Given the description of an element on the screen output the (x, y) to click on. 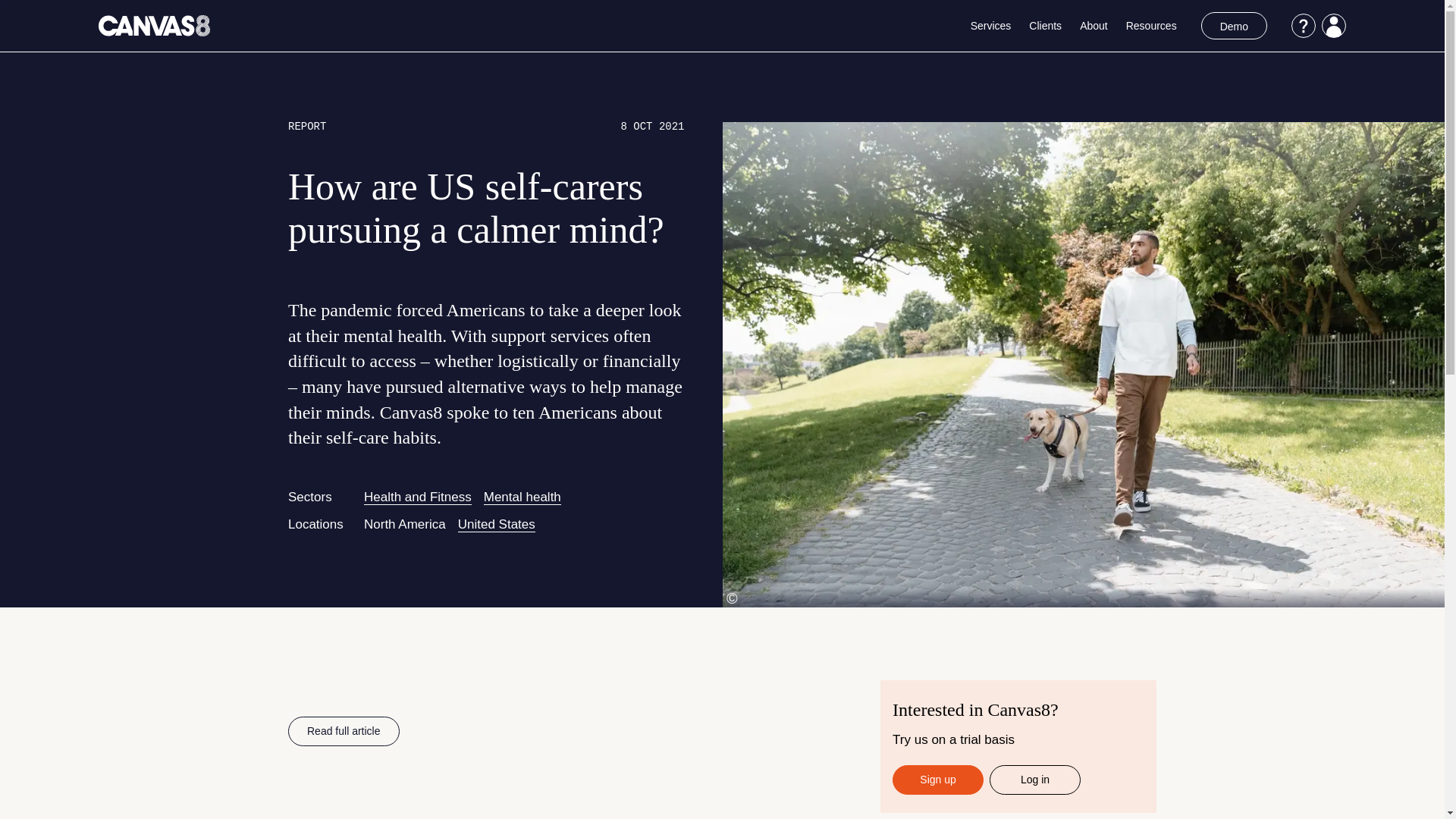
Services (991, 26)
About (1094, 26)
Mental health (521, 497)
Sign up (938, 779)
Health and Fitness (417, 497)
United States (496, 524)
Resources (1150, 26)
Demo (1233, 25)
Log in (1035, 779)
Read full article (343, 731)
Clients (1045, 26)
